Given the description of an element on the screen output the (x, y) to click on. 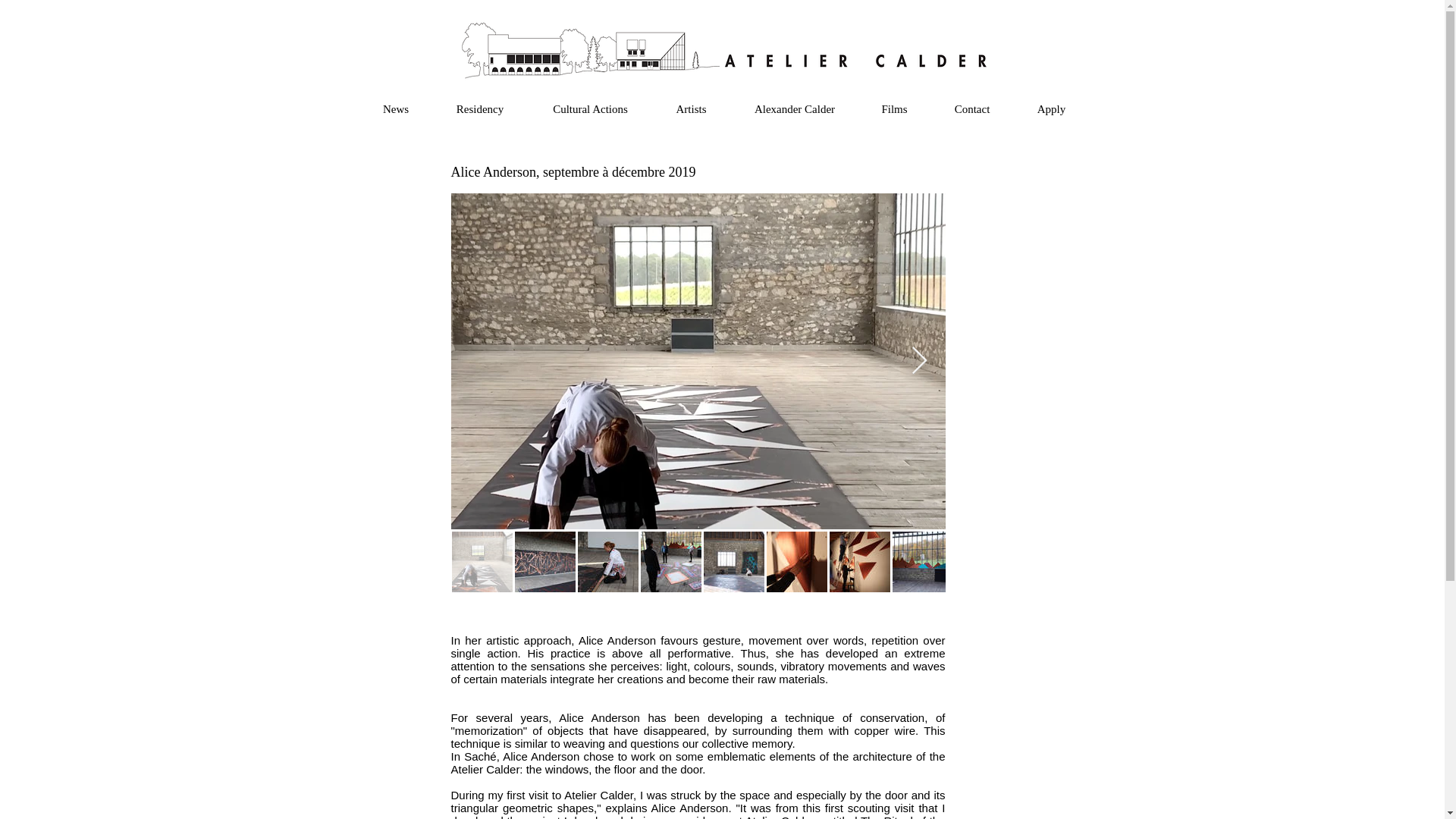
Films (895, 109)
Cultural Actions (589, 109)
News (394, 109)
Apply (1050, 109)
Artists (690, 109)
Residency (480, 109)
Contact (972, 109)
Alexander Calder (794, 109)
